Given the description of an element on the screen output the (x, y) to click on. 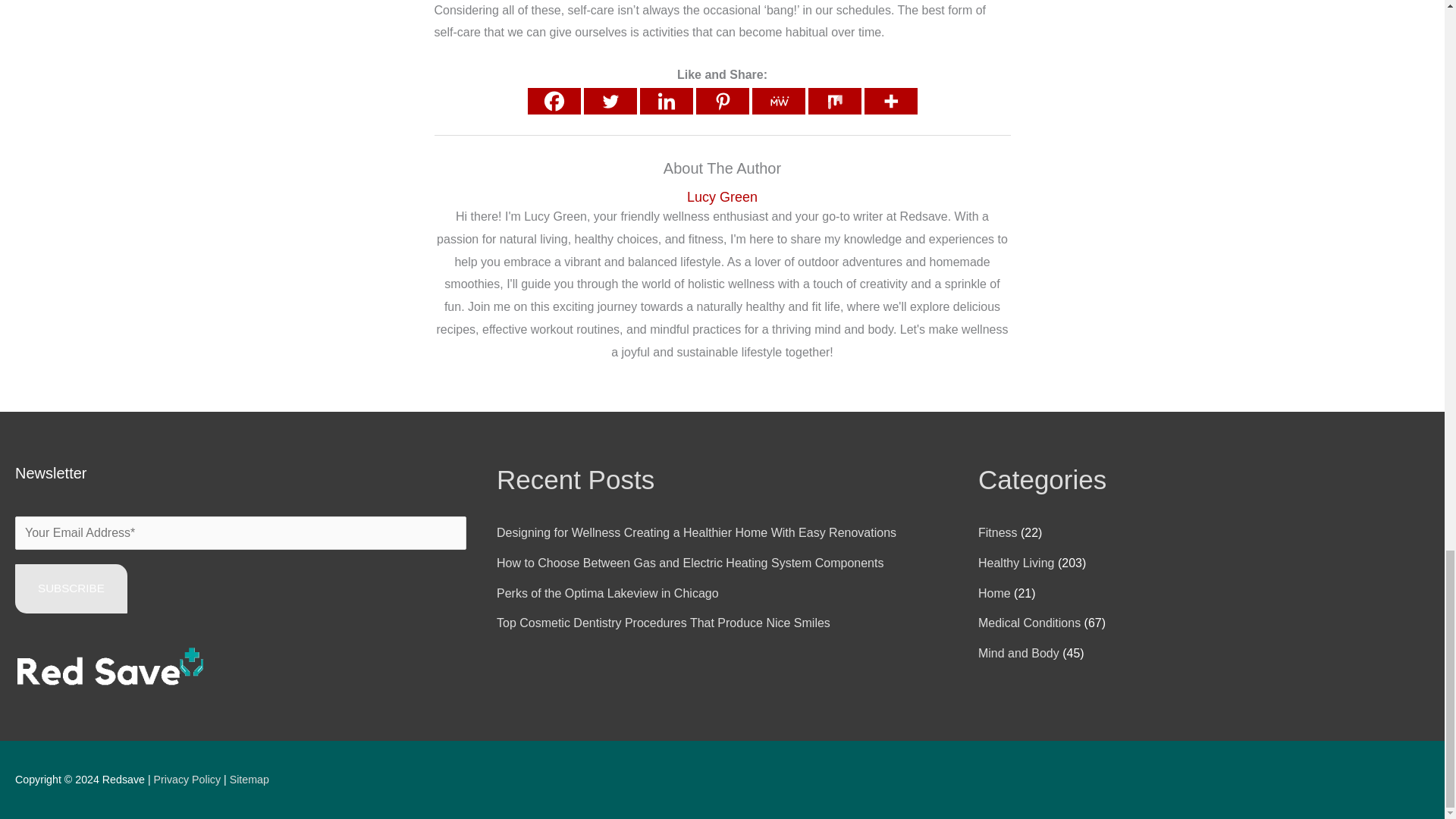
Healthy Living (1016, 562)
Top Cosmetic Dentistry Procedures That Produce Nice Smiles (662, 622)
More (890, 100)
Mix (834, 100)
Pinterest (722, 100)
Subscribe (71, 588)
Mind and Body (1018, 653)
Linkedin (666, 100)
Perks of the Optima Lakeview in Chicago (607, 593)
Home (994, 593)
